Given the description of an element on the screen output the (x, y) to click on. 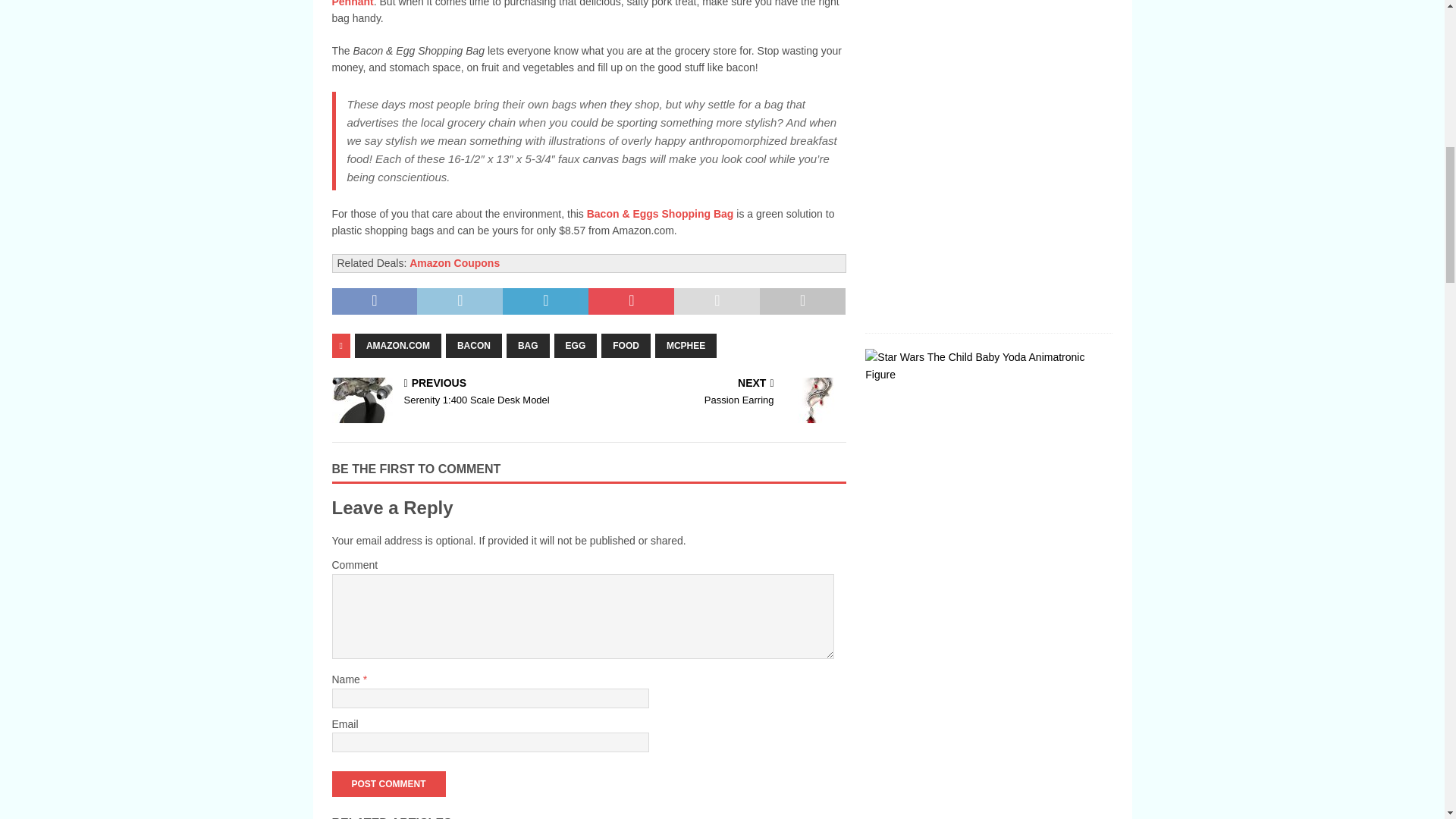
Post Comment (388, 783)
